Given the description of an element on the screen output the (x, y) to click on. 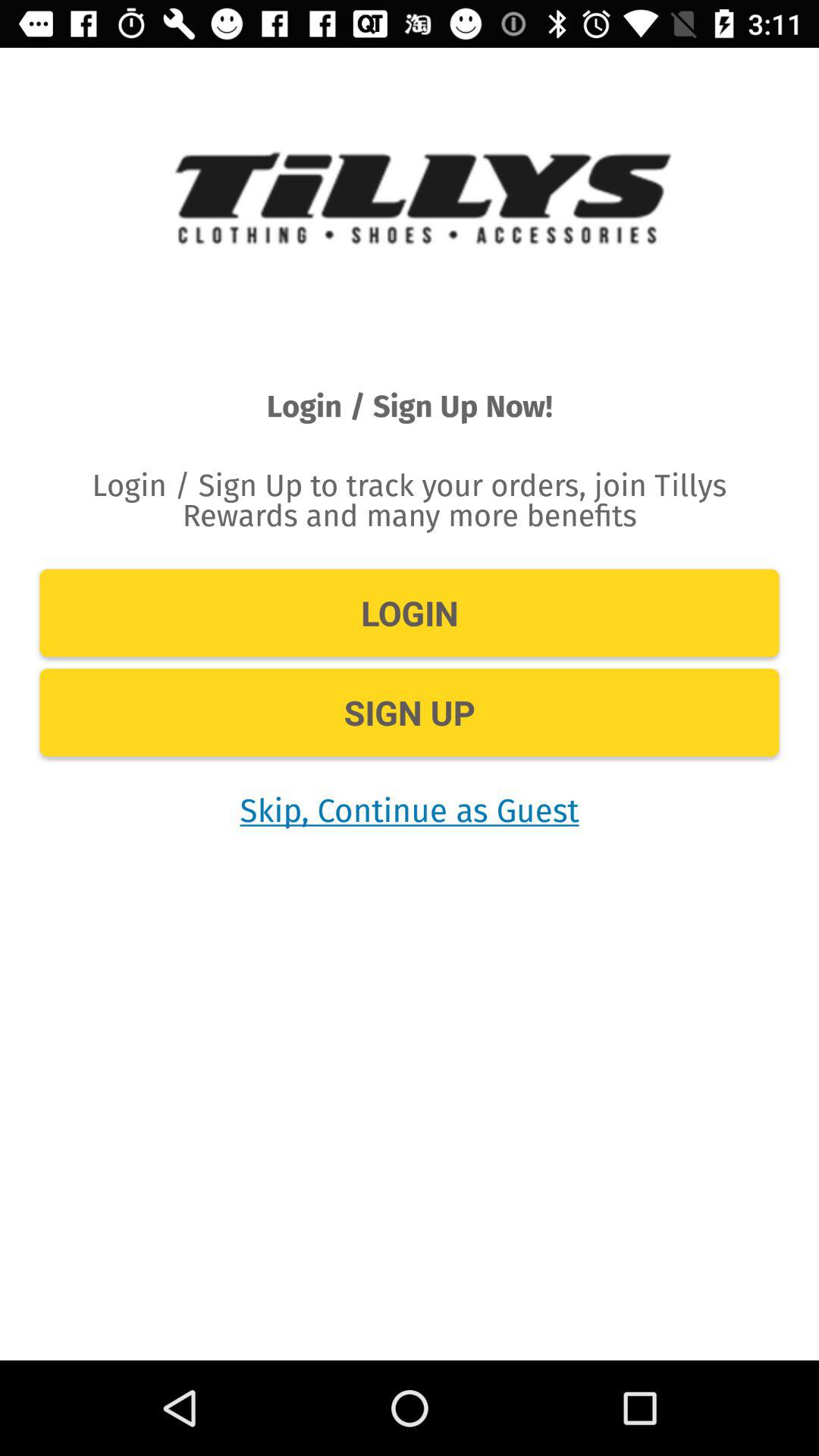
turn on icon below sign up (409, 809)
